Given the description of an element on the screen output the (x, y) to click on. 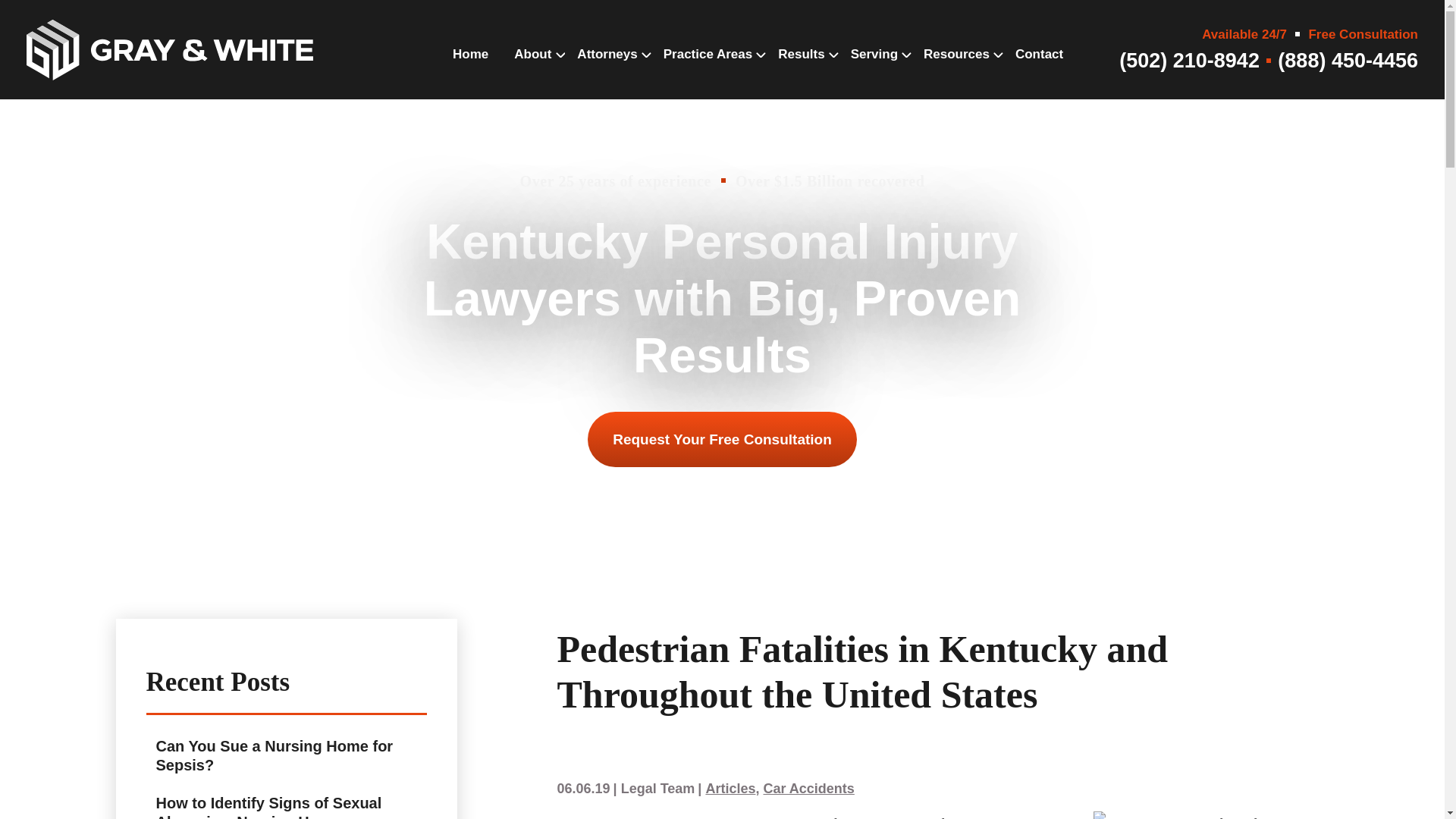
Serving (874, 68)
Practice Areas (707, 68)
Resources (956, 68)
Attorneys (606, 68)
Results (800, 68)
